Given the description of an element on the screen output the (x, y) to click on. 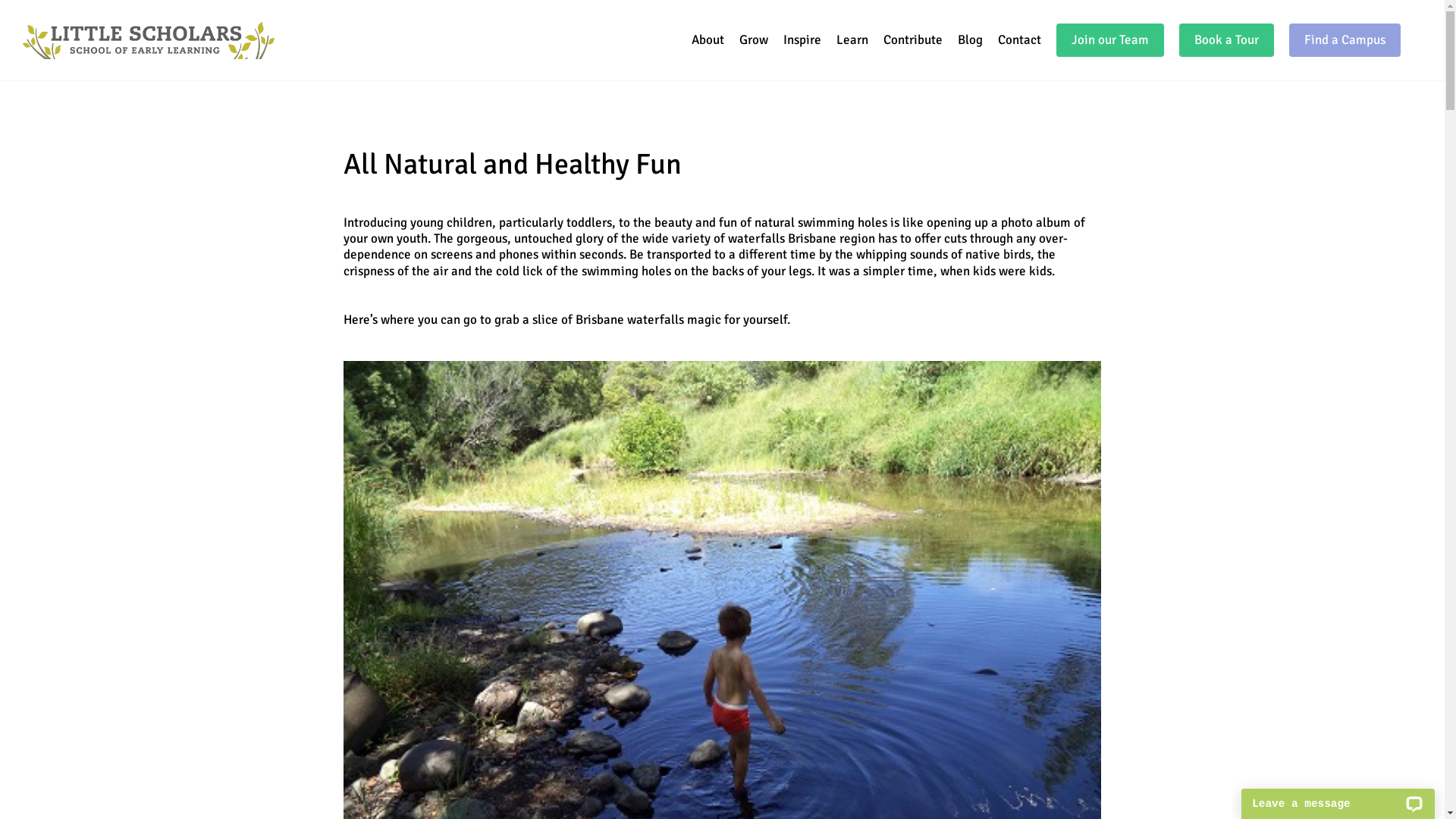
Learn Element type: text (852, 39)
Blog Element type: text (969, 39)
Book a Tour Element type: text (1226, 39)
Join our Team Element type: text (1110, 39)
Contact Element type: text (1019, 39)
Contribute Element type: text (912, 39)
About Element type: text (707, 39)
Grow Element type: text (753, 39)
Find a Campus Element type: text (1344, 39)
Inspire Element type: text (802, 39)
